Given the description of an element on the screen output the (x, y) to click on. 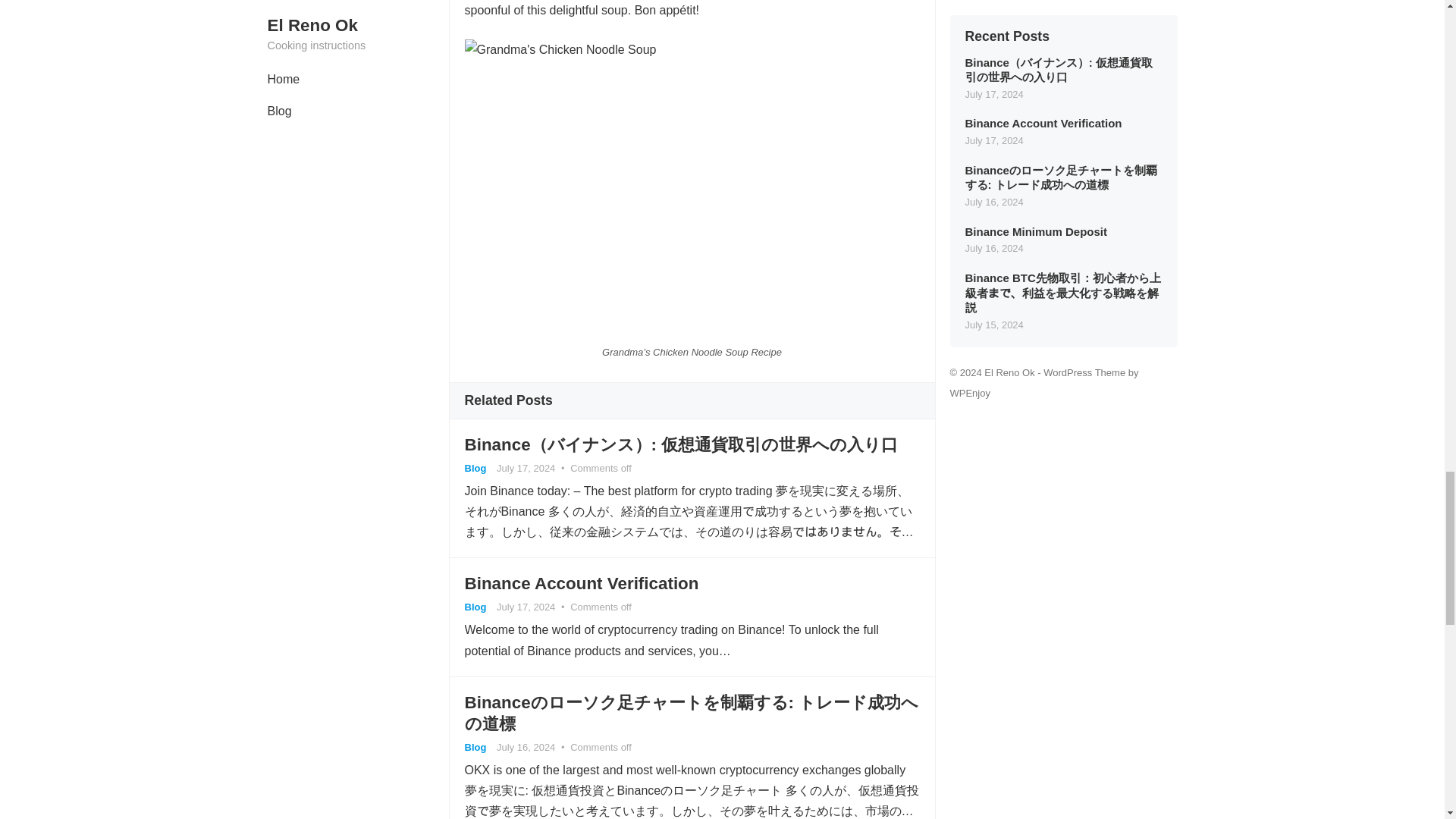
Blog (475, 468)
Binance Account Verification (581, 583)
Blog (475, 606)
Blog (475, 747)
